Given the description of an element on the screen output the (x, y) to click on. 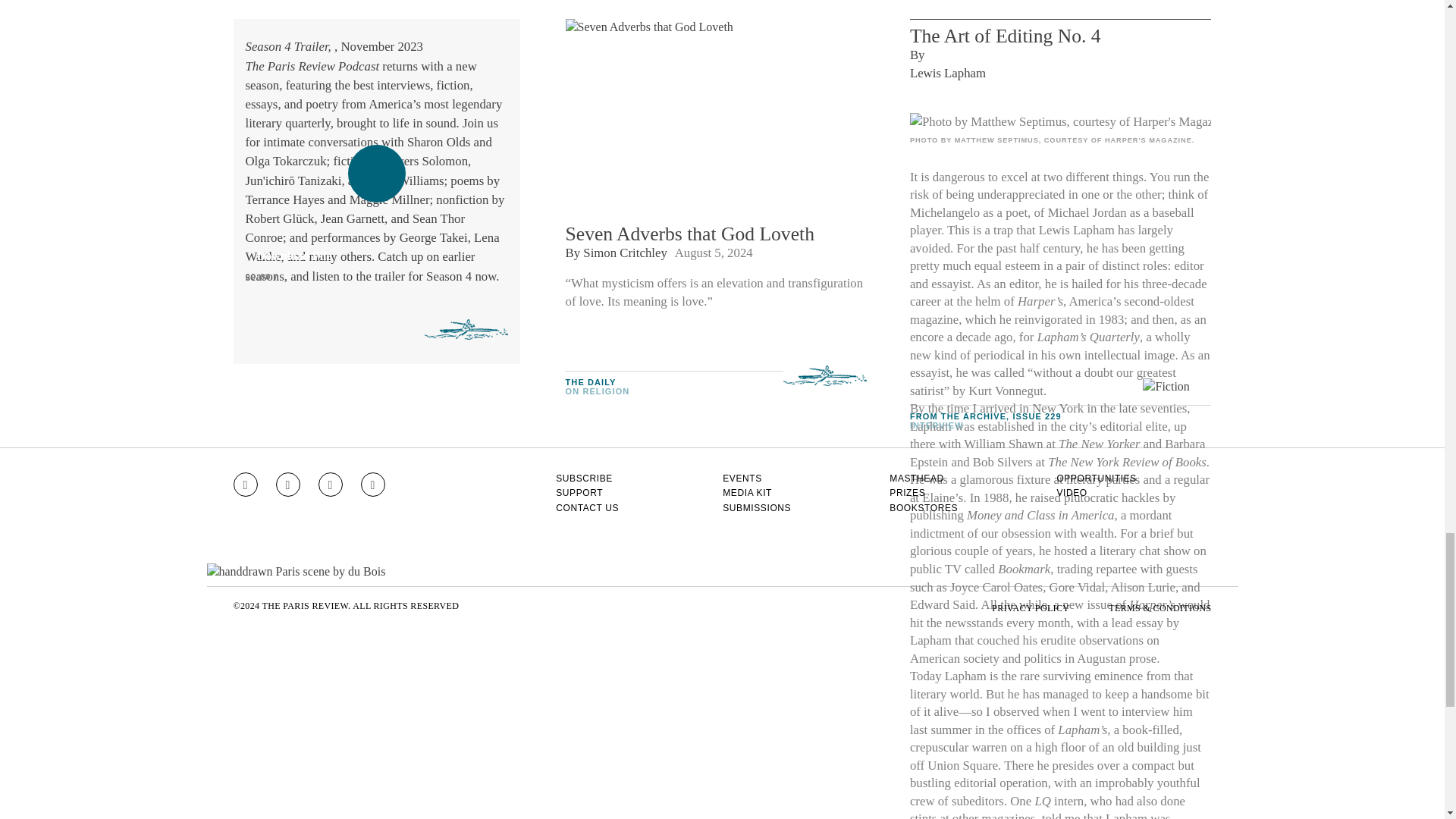
Go to Twitter feed (330, 484)
undefined (1060, 122)
Go to Instagram feed (244, 484)
Go to RSS feed (373, 484)
Go to Facebook page (287, 484)
